Given the description of an element on the screen output the (x, y) to click on. 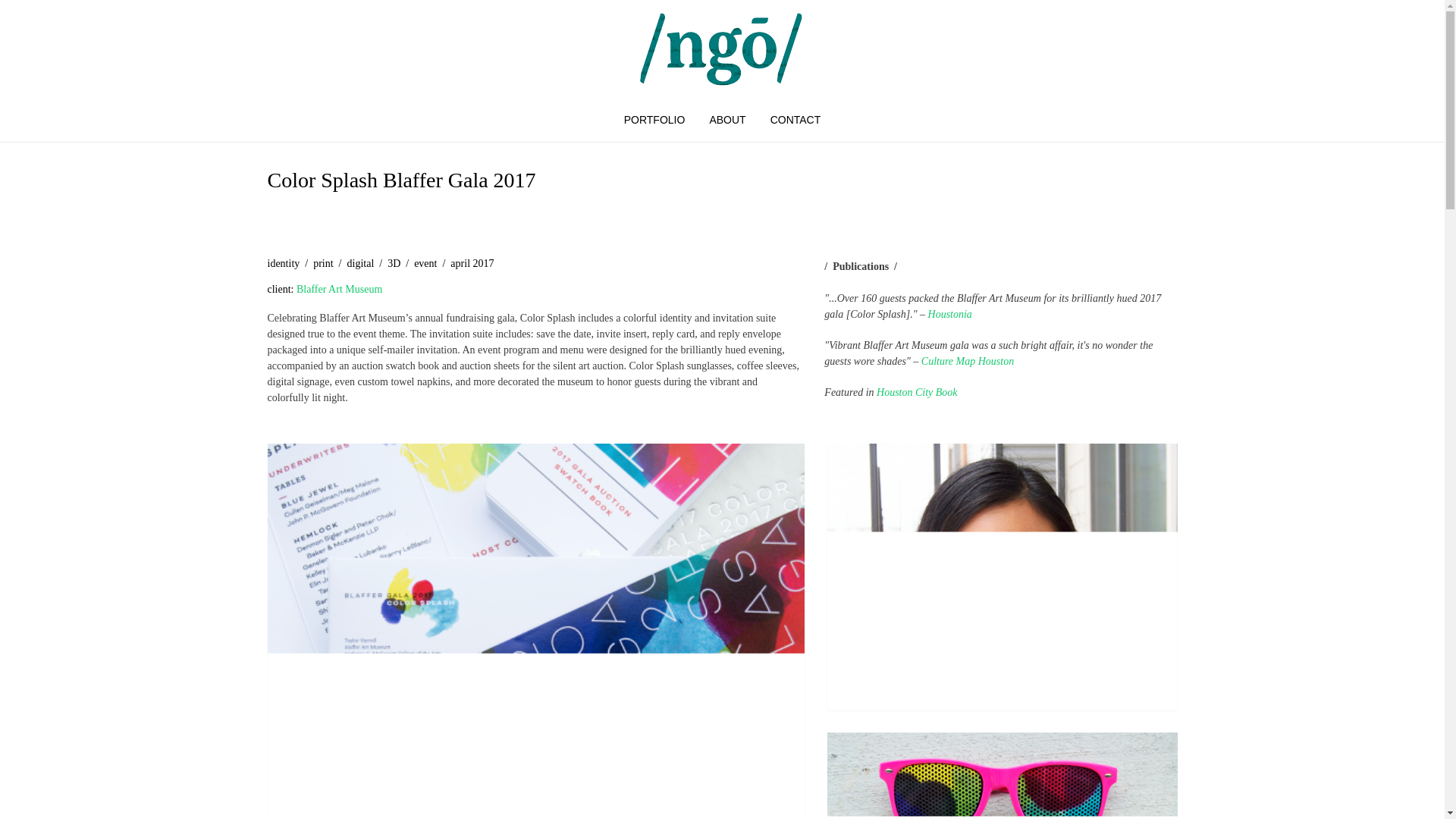
CONTACT (795, 122)
ABOUT (727, 122)
Blaffer Art Museum (339, 288)
PORTFOLIO (654, 122)
Culture Map Houston (967, 360)
Houstonia (950, 314)
Houston City Book (917, 392)
